Given the description of an element on the screen output the (x, y) to click on. 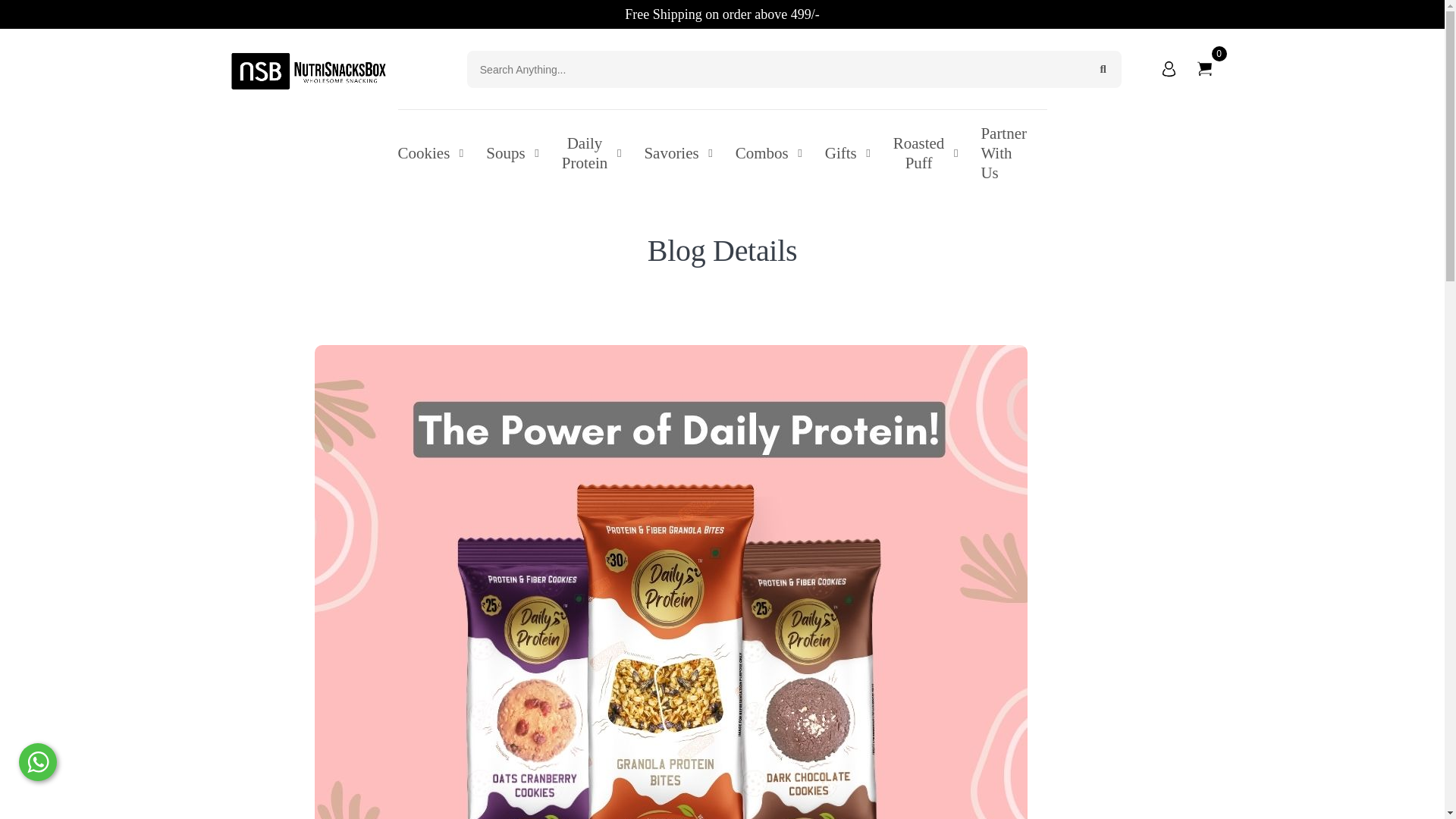
My Account (1171, 69)
Cookies (430, 152)
Soups (512, 152)
0 (1204, 69)
Savories (677, 152)
Cartlist (1204, 69)
Daily Protein (591, 152)
